Given the description of an element on the screen output the (x, y) to click on. 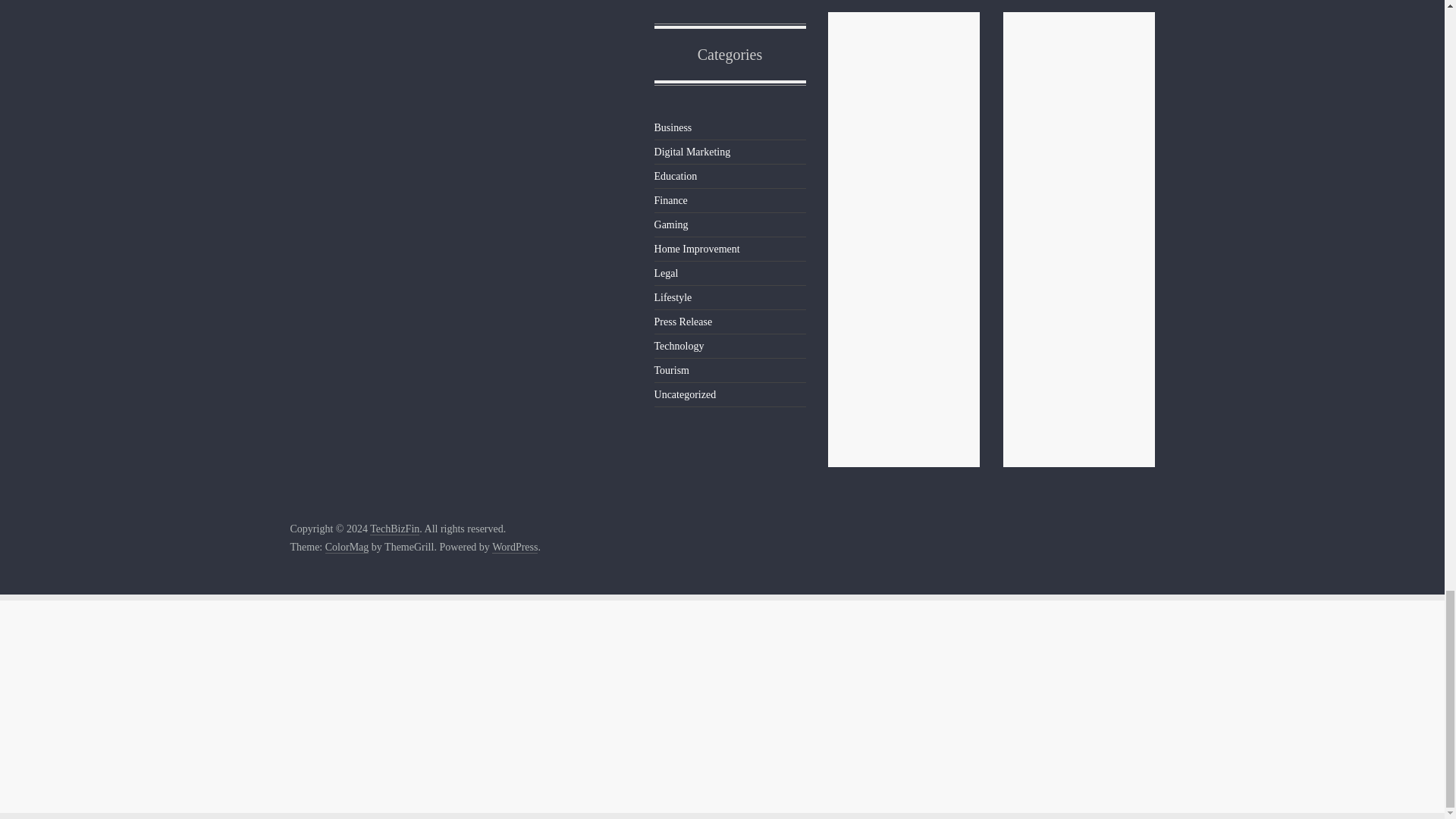
ColorMag (346, 547)
TechBizFin (394, 529)
WordPress (514, 547)
